Given the description of an element on the screen output the (x, y) to click on. 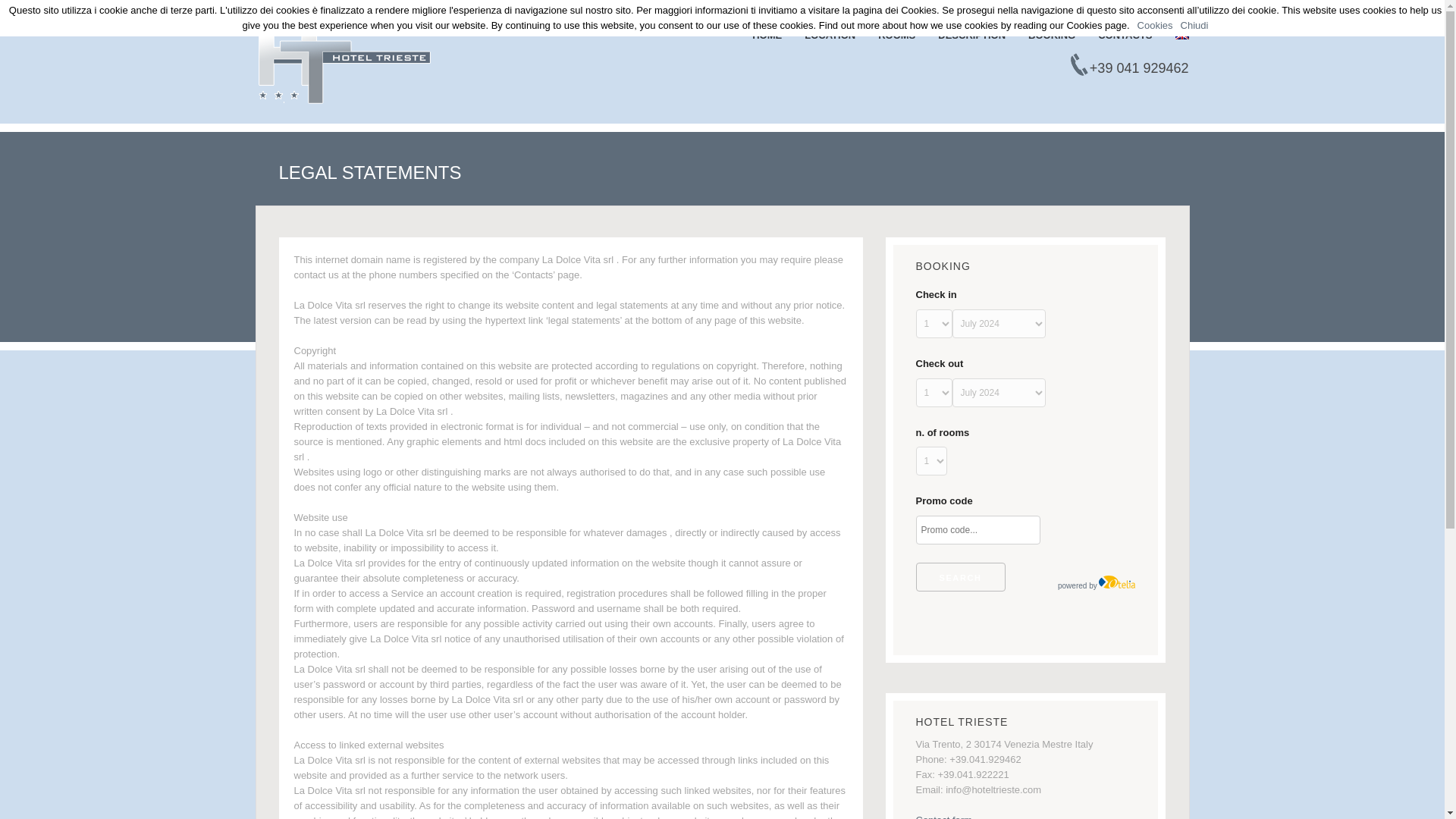
Cookies (1155, 25)
ROOMS (896, 37)
DESCRIPTION (971, 37)
CONTACTS (1124, 37)
Chiudi (1194, 25)
powered by (1096, 585)
Hotel Trieste (344, 62)
BOOKING (1051, 37)
Search (960, 576)
LOCATION (830, 37)
Contact form (943, 816)
Search (960, 576)
HOME (766, 37)
